Given the description of an element on the screen output the (x, y) to click on. 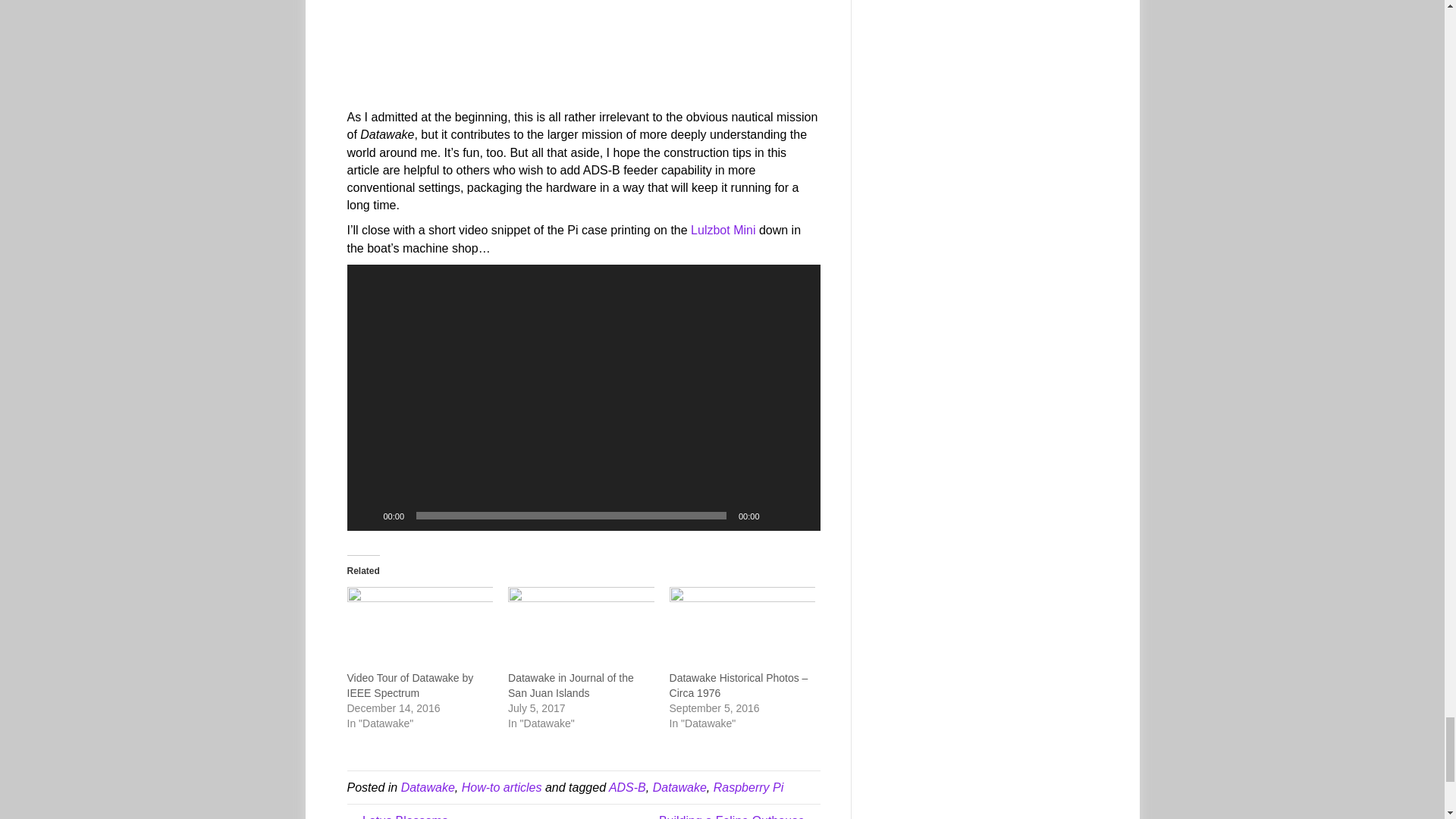
Fullscreen (800, 515)
Datawake in Journal of the San Juan Islands (580, 628)
Datawake in Journal of the San Juan Islands (570, 685)
Video Tour of Datawake by IEEE Spectrum (420, 628)
Play (366, 515)
Video Tour of Datawake by IEEE Spectrum (410, 685)
Mute (776, 515)
